Given the description of an element on the screen output the (x, y) to click on. 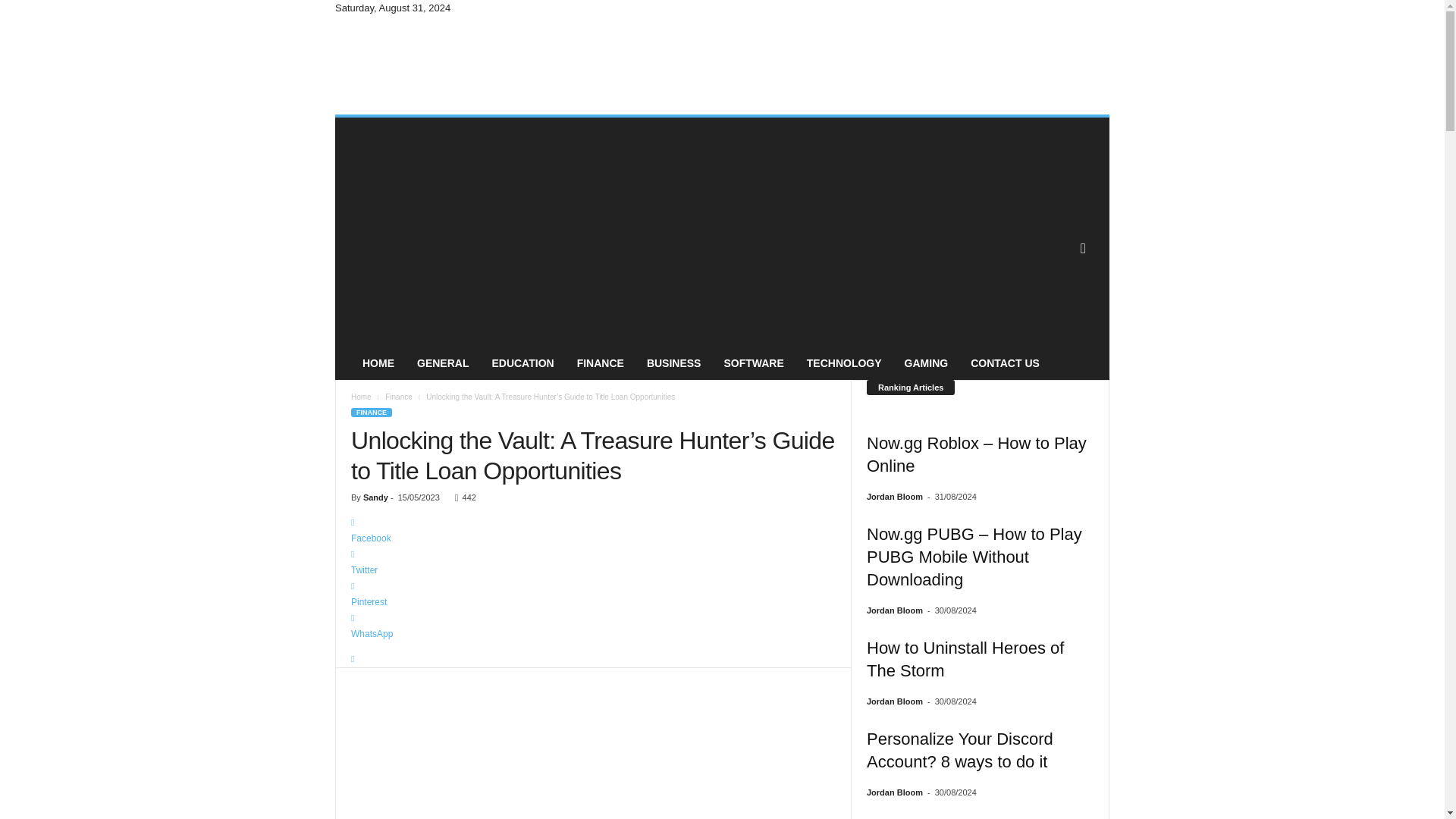
SOFTWARE (752, 363)
Techniciansnow (437, 65)
GENERAL (443, 363)
More (592, 659)
HOME (378, 363)
View all posts in Finance (398, 397)
FINANCE (600, 363)
Twitter (592, 562)
Facebook (592, 531)
TECHNOLOGY (843, 363)
